Given the description of an element on the screen output the (x, y) to click on. 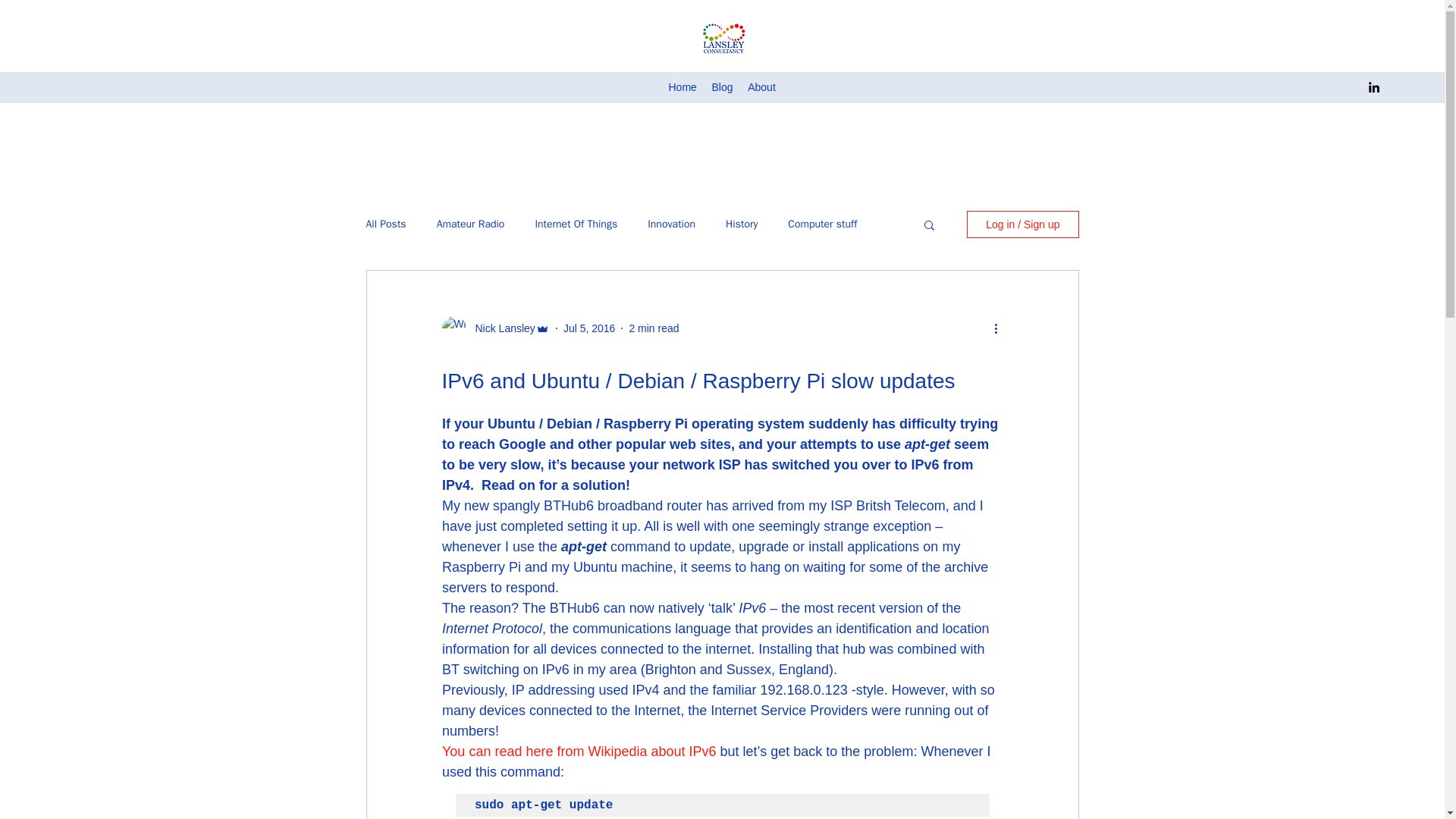
History (741, 223)
You can read here from Wikipedia about IPv6  (580, 751)
Amateur Radio (470, 223)
Home (682, 87)
Internet Of Things (575, 223)
2 min read (653, 327)
About (761, 87)
Computer stuff (822, 223)
Blog (721, 87)
Innovation (671, 223)
